Given the description of an element on the screen output the (x, y) to click on. 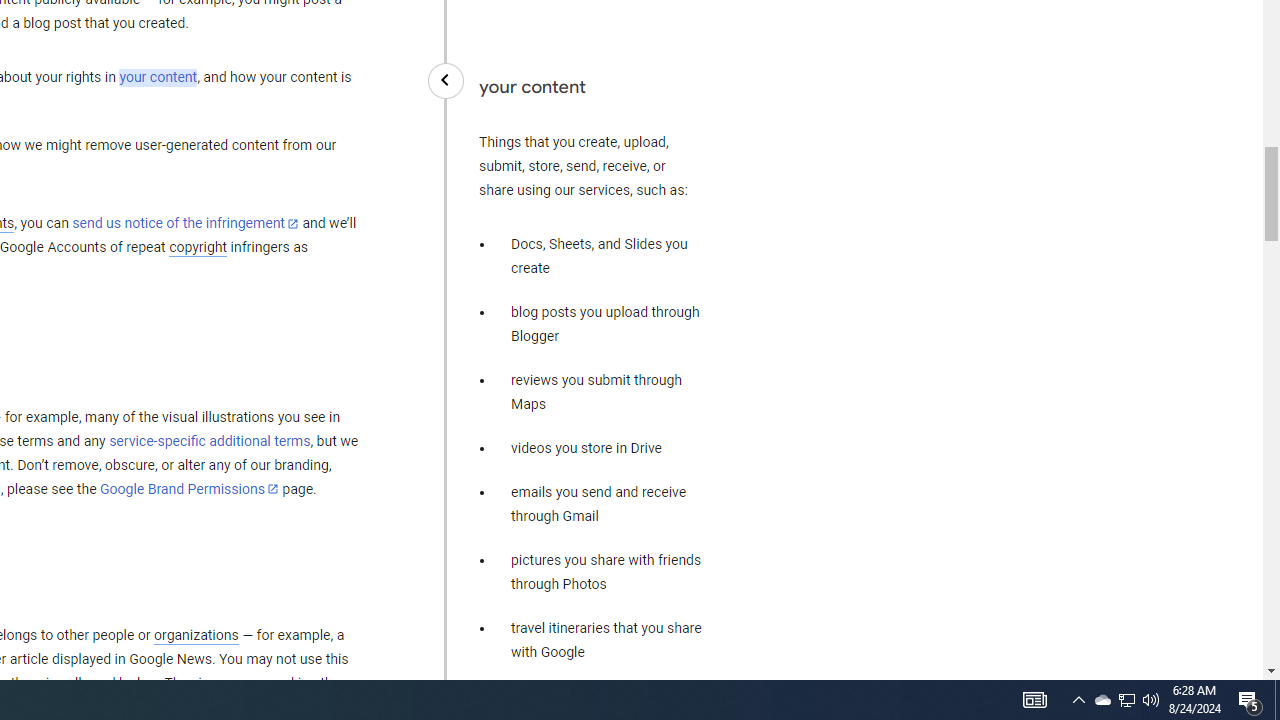
organizations (196, 635)
your content (158, 78)
send us notice of the infringement (185, 224)
Google Brand Permissions (189, 489)
service-specific additional terms (209, 441)
copyright (197, 248)
